Given the description of an element on the screen output the (x, y) to click on. 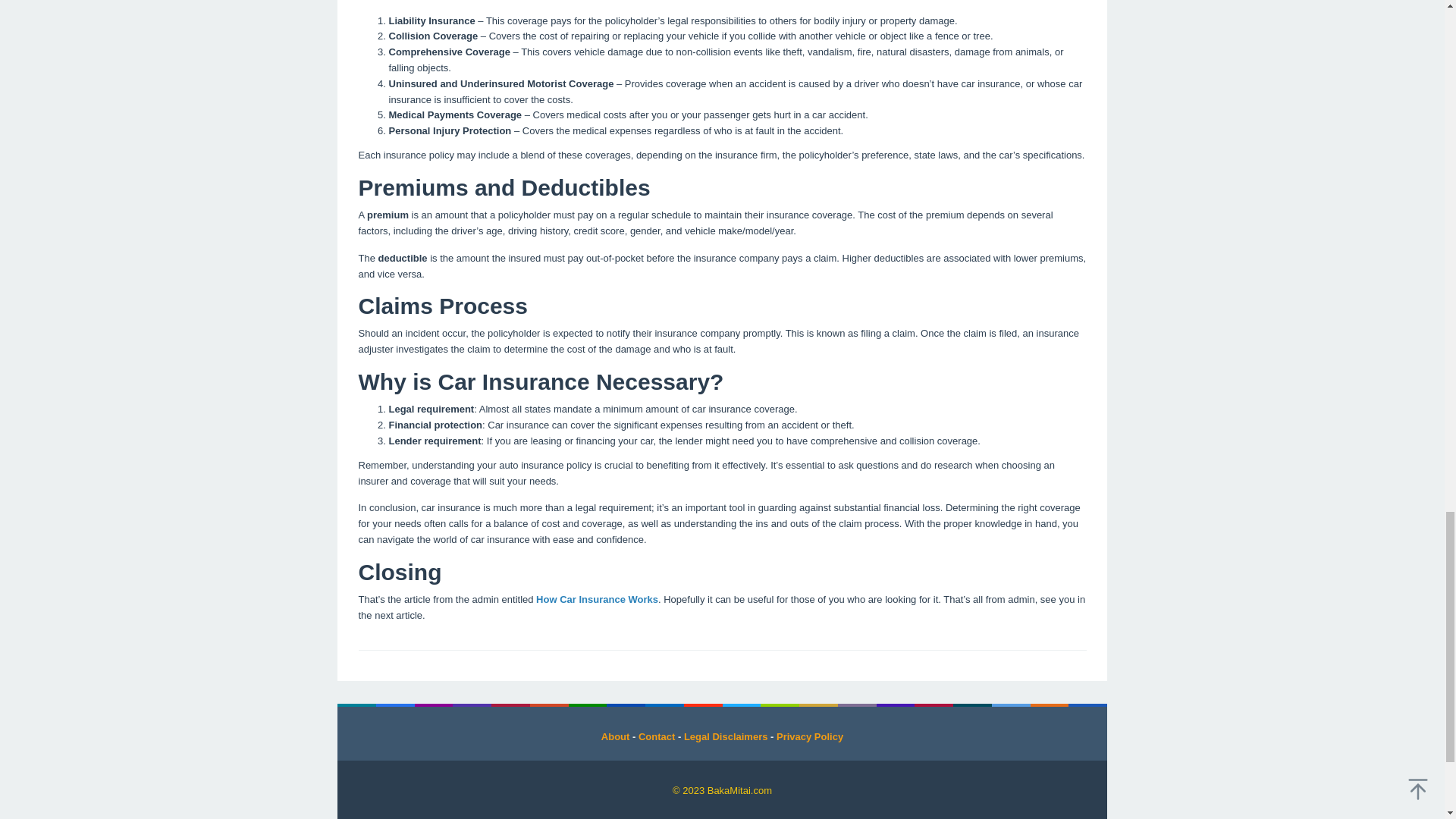
Contact (657, 736)
About (615, 736)
Privacy Policy (809, 736)
How Car Insurance Works (596, 599)
Legal Disclaimers (726, 736)
